Given the description of an element on the screen output the (x, y) to click on. 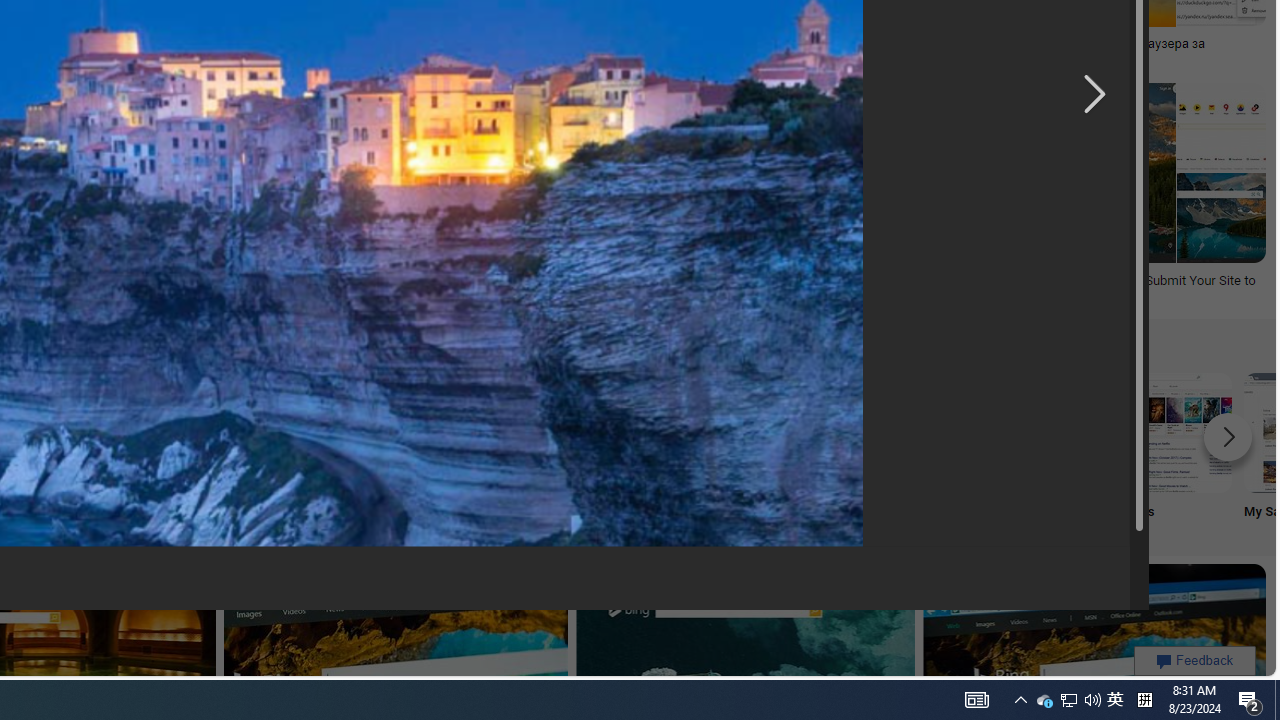
Top 10 Search engine | REALITYPOD - Part 3 (347, 44)
Bing Search Settings (907, 432)
Bing Intelligent Search Intelligent (643, 450)
Bing Search Bar Install Bar Install (380, 450)
Image result for Bing Search Site (717, 172)
Bing Search Settings Settings (907, 450)
Top 10 Search engine | REALITYPOD - Part 3 (372, 44)
New Bing Image Search (775, 432)
Web Searching | Computer Applications for ManagersSave (220, 196)
Tricks (1039, 450)
